Given the description of an element on the screen output the (x, y) to click on. 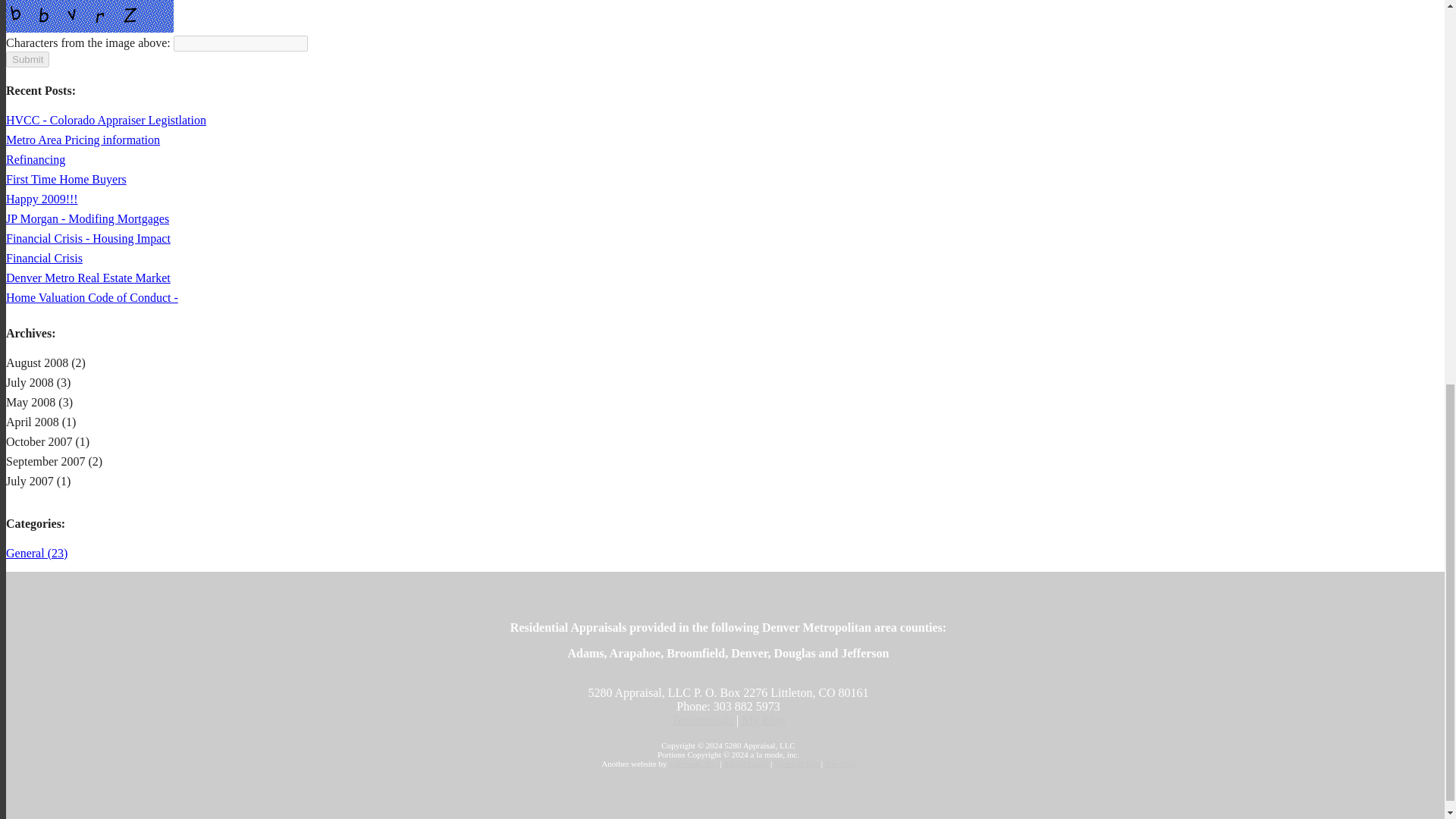
Submit (27, 59)
Denver Metro Real Estate Market (87, 277)
Financial Crisis (43, 257)
Refinancing (35, 159)
Submit (27, 59)
Home Valuation Code of Conduct - (91, 297)
Financial Crisis - Housing Impact (87, 237)
HVCC - Colorado Appraiser Legistlation (105, 119)
Metro Area Pricing information (82, 139)
First Time Home Buyers (65, 178)
Happy 2009!!! (41, 198)
JP Morgan - Modifing Mortgages (86, 218)
